Given the description of an element on the screen output the (x, y) to click on. 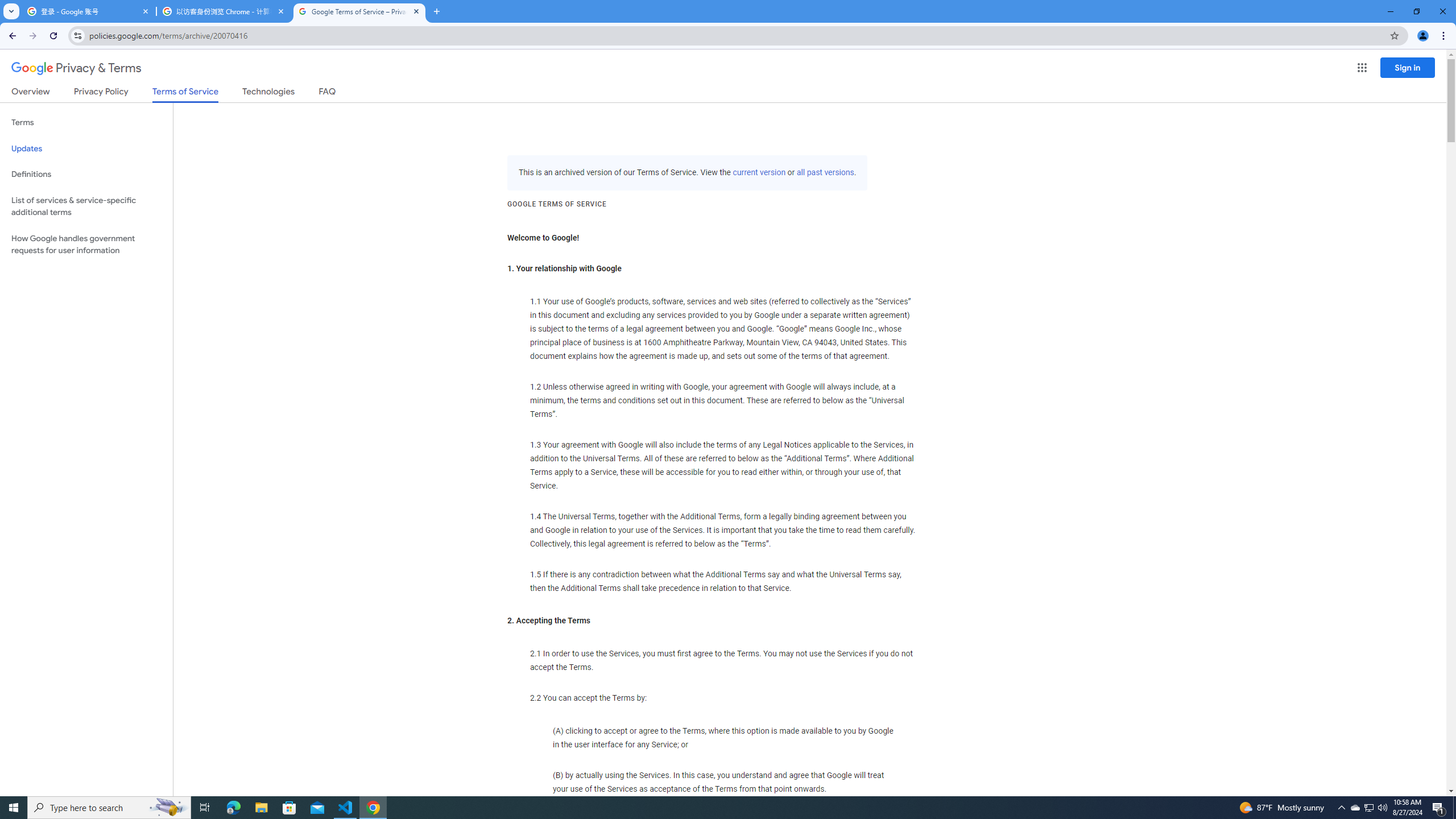
current version (759, 172)
List of services & service-specific additional terms (86, 206)
